Given the description of an element on the screen output the (x, y) to click on. 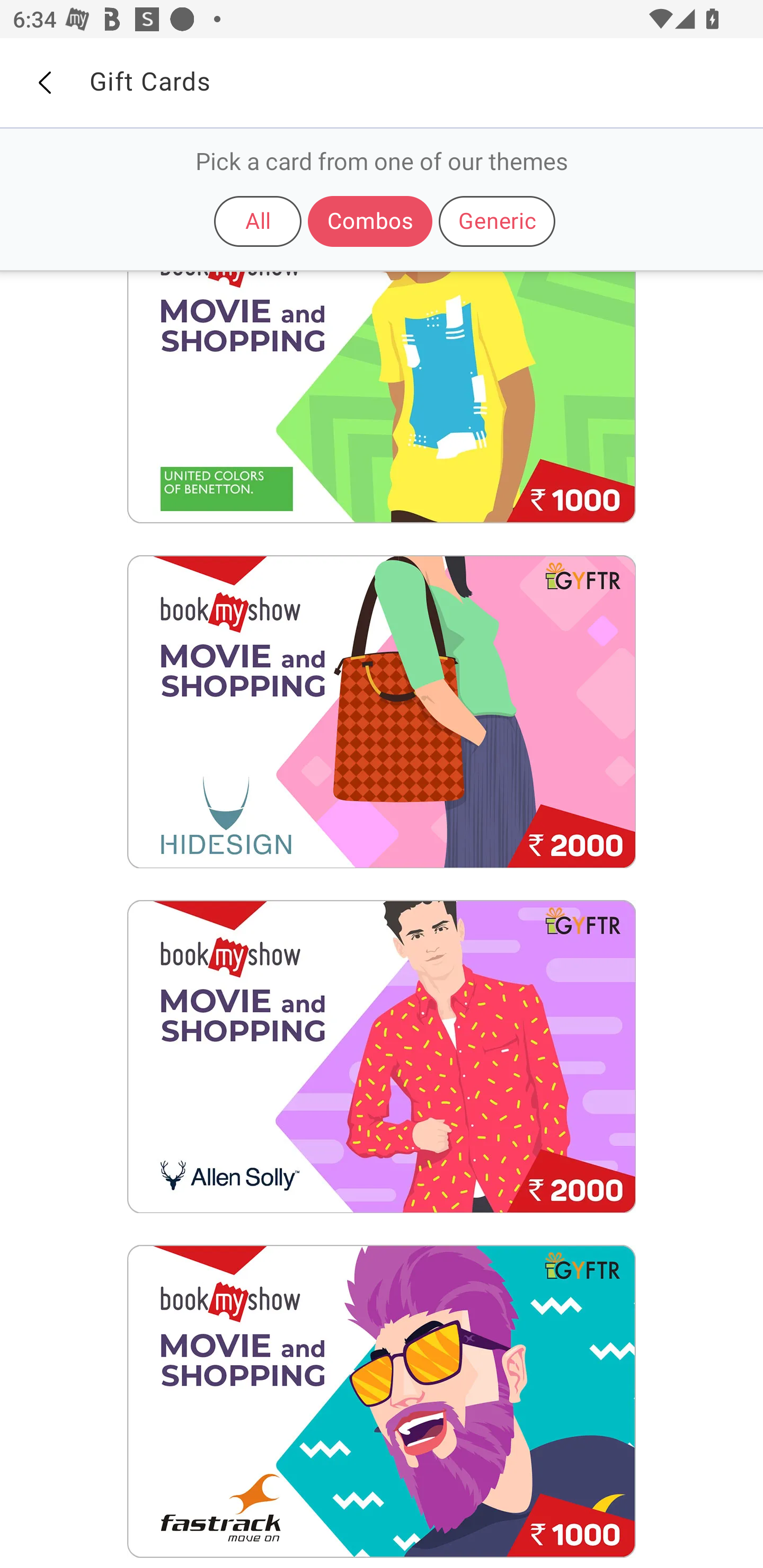
Back (44, 82)
  All   (257, 221)
Combos (369, 221)
Generic (496, 221)
